Given the description of an element on the screen output the (x, y) to click on. 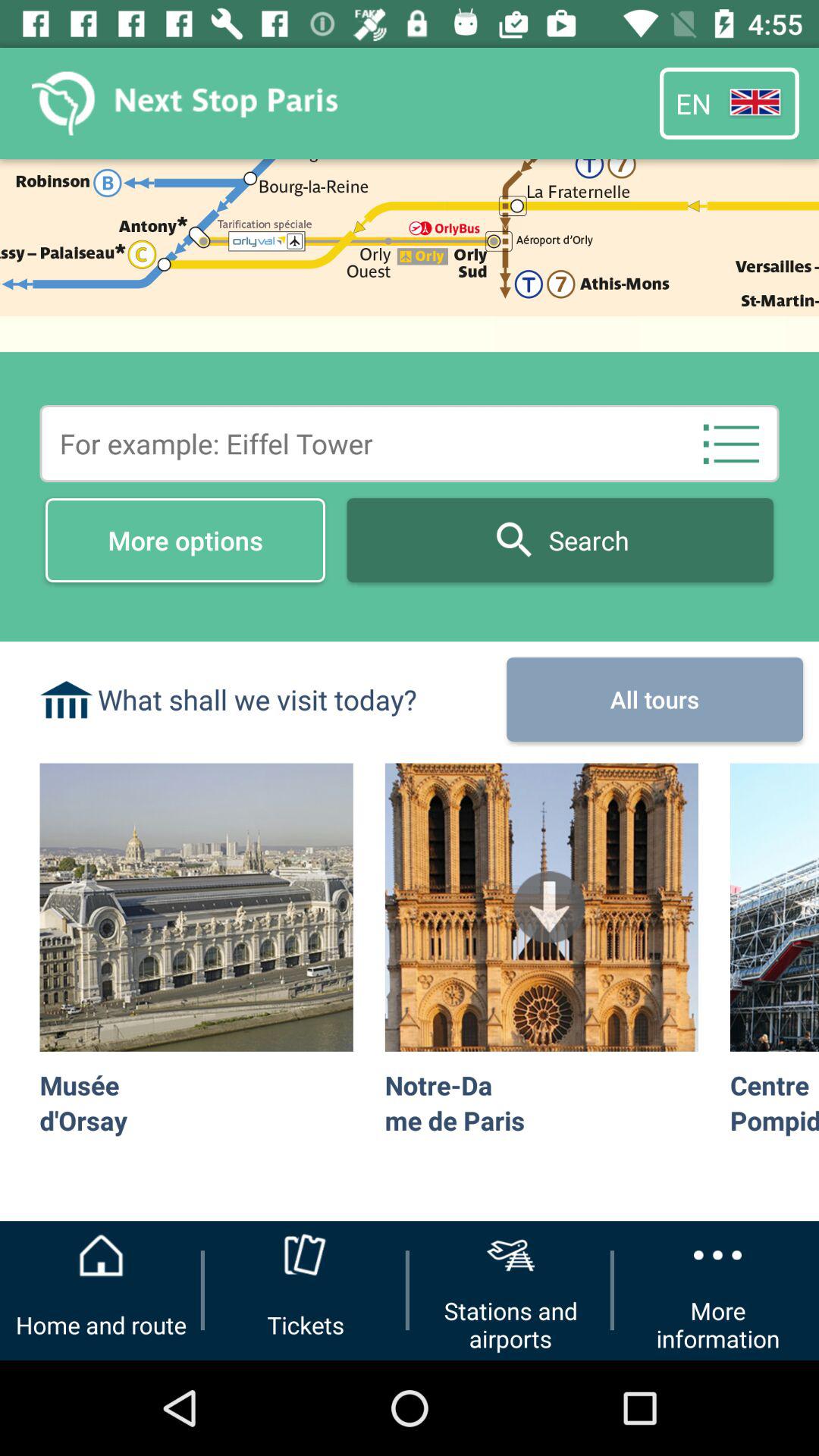
tap the icon next to the what shall we (654, 699)
